Given the description of an element on the screen output the (x, y) to click on. 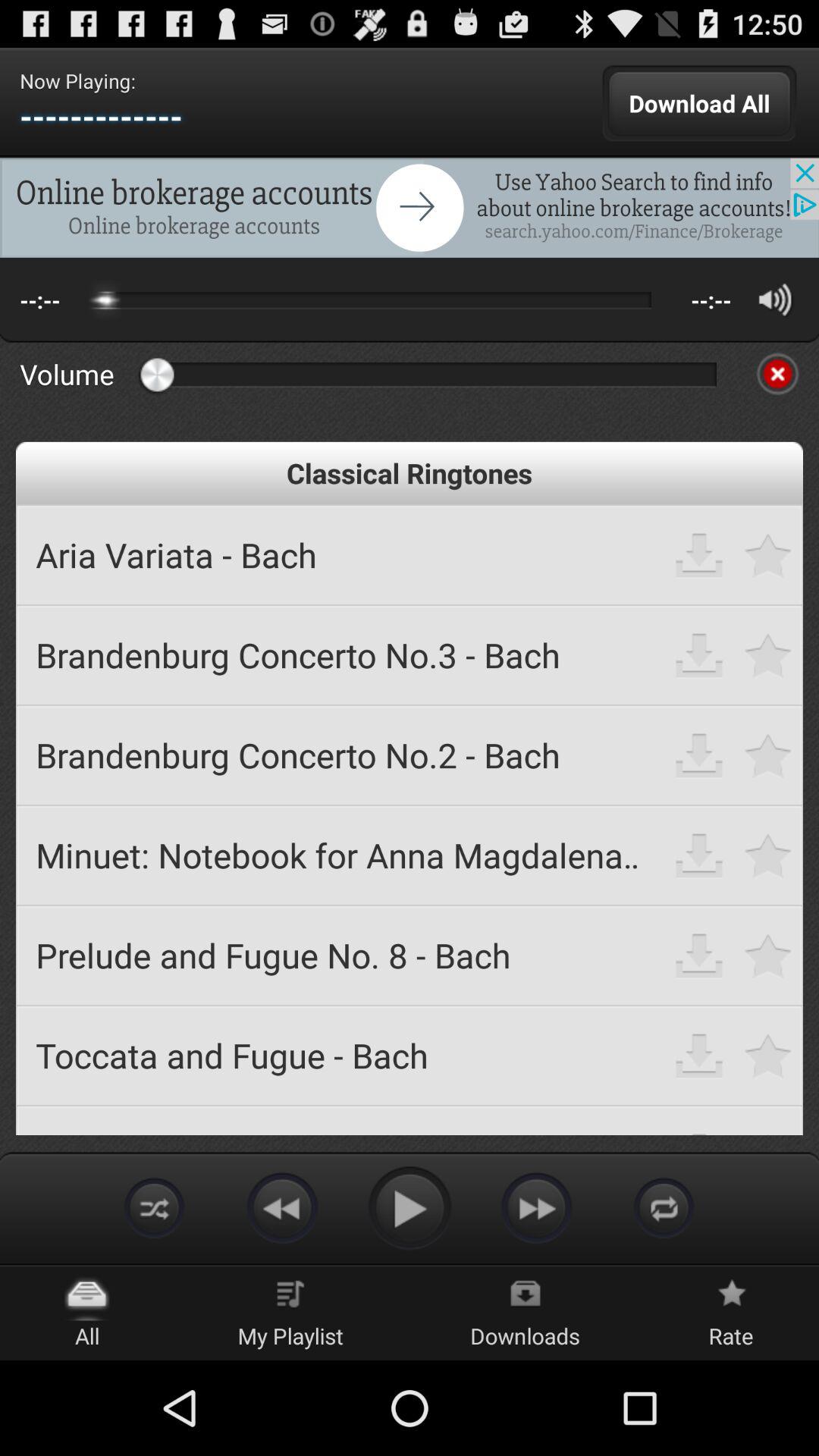
play (409, 1207)
